Given the description of an element on the screen output the (x, y) to click on. 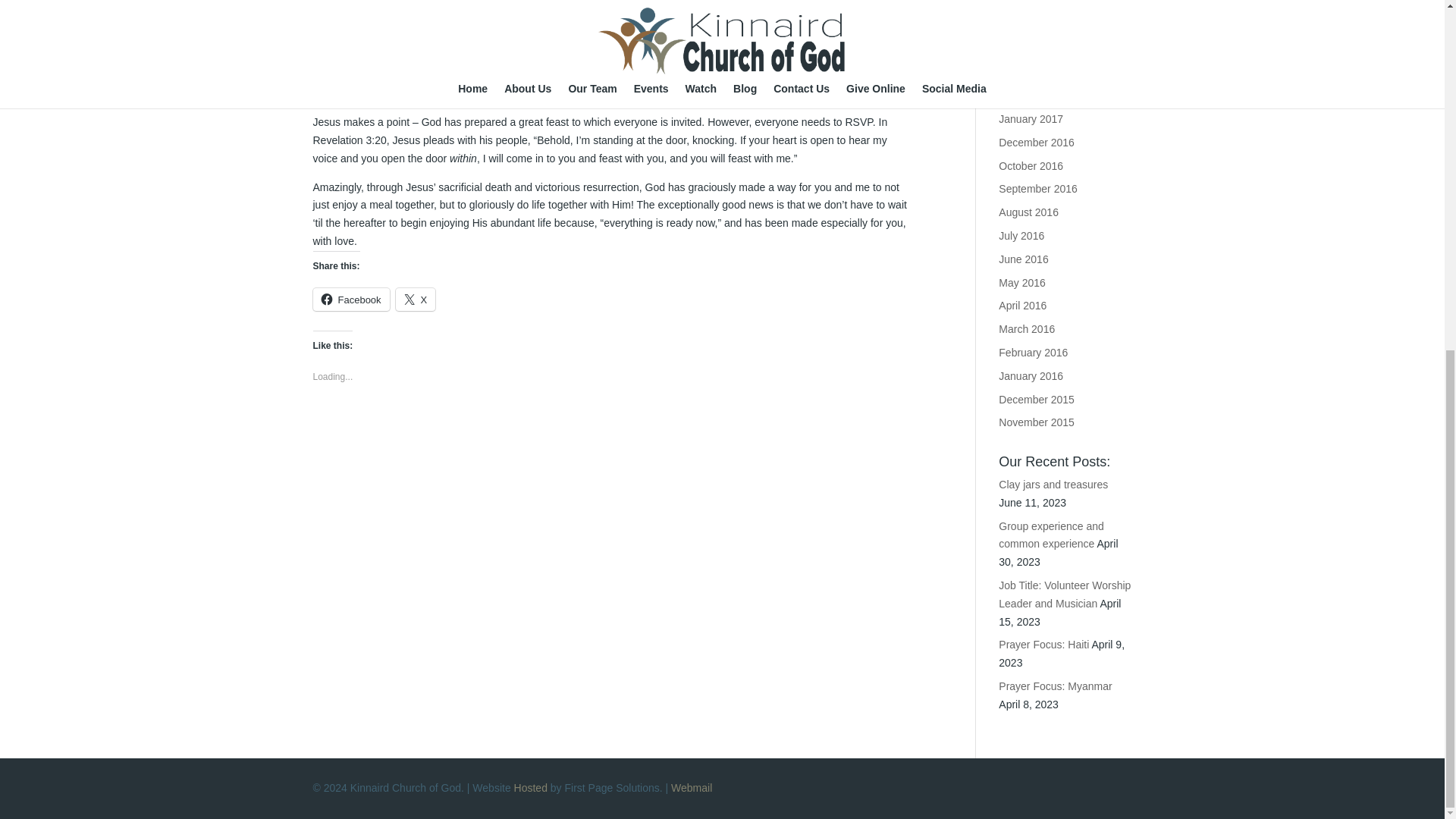
Click to share on Facebook (350, 299)
X (415, 299)
Click to share on X (415, 299)
Facebook (350, 299)
